Given the description of an element on the screen output the (x, y) to click on. 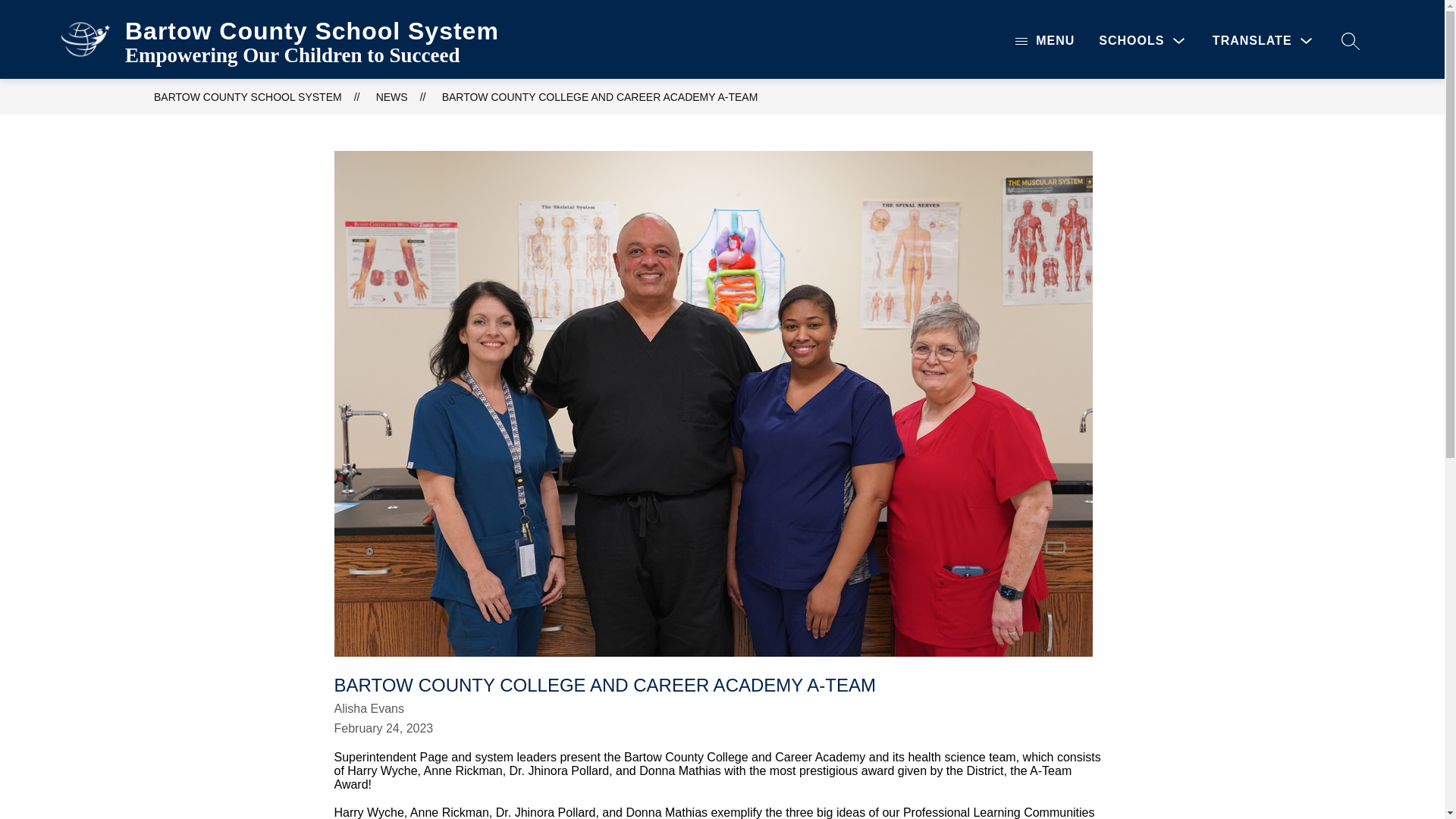
SEARCH (1349, 40)
TRANSLATE (1264, 40)
MENU (1044, 40)
SCHOOLS (1143, 40)
BARTOW COUNTY SCHOOL SYSTEM (248, 96)
BARTOW COUNTY COLLEGE AND CAREER ACADEMY A-TEAM (600, 96)
NEWS (391, 96)
